Given the description of an element on the screen output the (x, y) to click on. 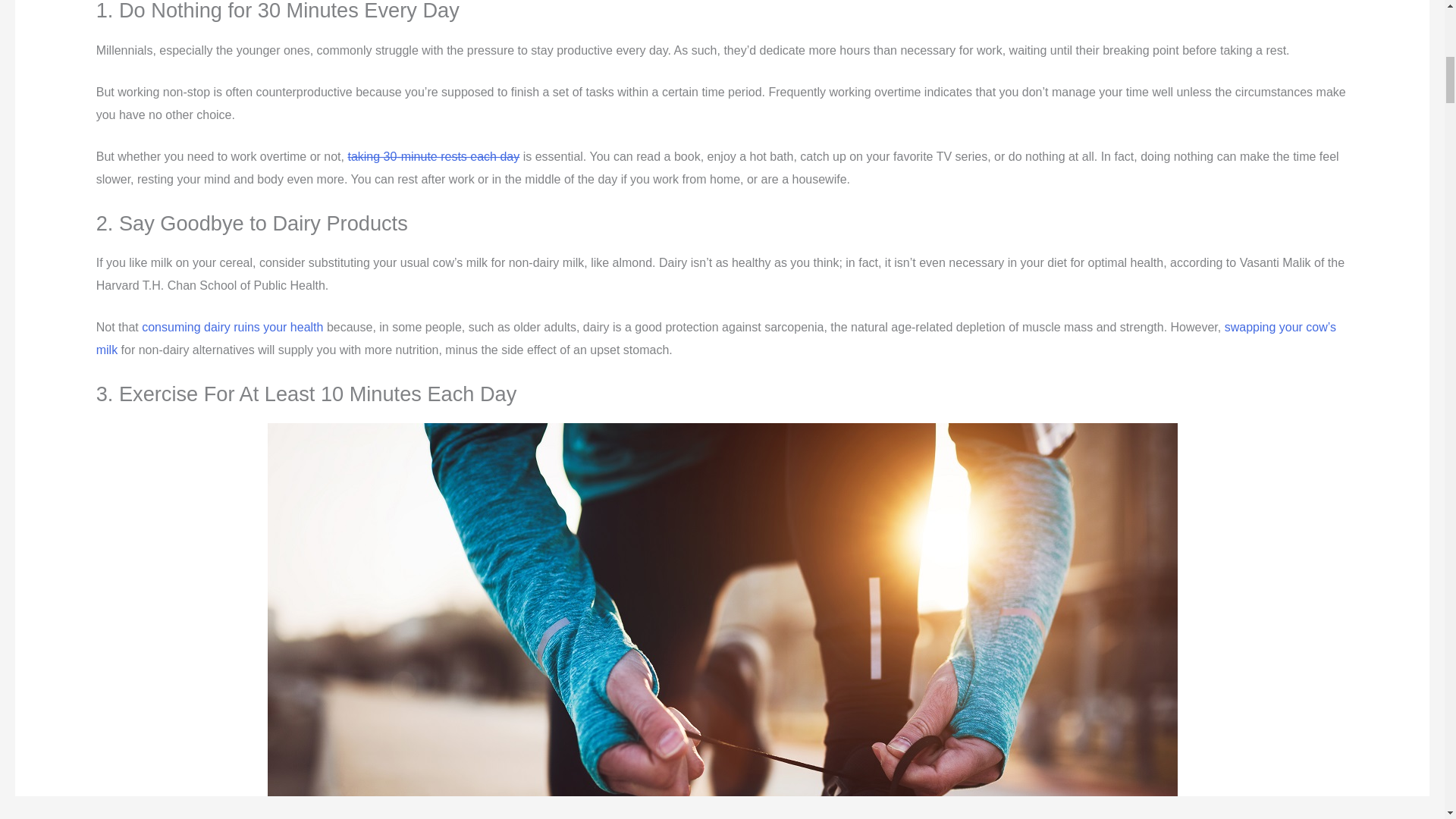
taking 30-minute rests each day (433, 155)
consuming dairy ruins your health (232, 327)
